Given the description of an element on the screen output the (x, y) to click on. 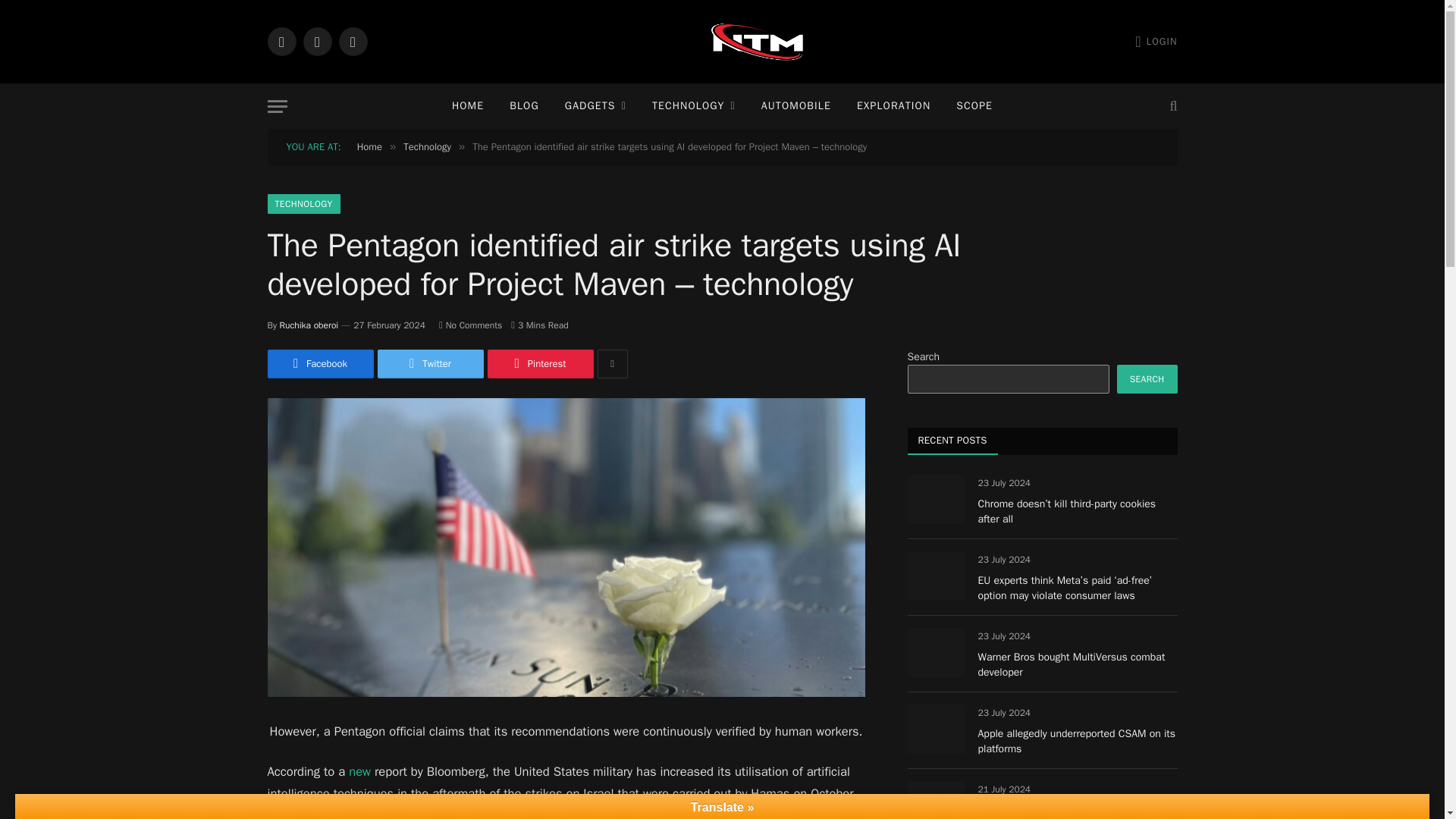
GADGETS (595, 105)
Facebook (280, 41)
Instagram (351, 41)
TECHNOLOGY (302, 203)
TECHNOLOGY (693, 105)
Pinterest (539, 363)
SCOPE (974, 105)
BLOG (523, 105)
EXPLORATION (893, 105)
LOGIN (1155, 41)
Ruchika oberoi (309, 325)
Share on Pinterest (539, 363)
Show More Social Sharing (611, 363)
Posts by Ruchika oberoi (309, 325)
Technology (427, 146)
